Given the description of an element on the screen output the (x, y) to click on. 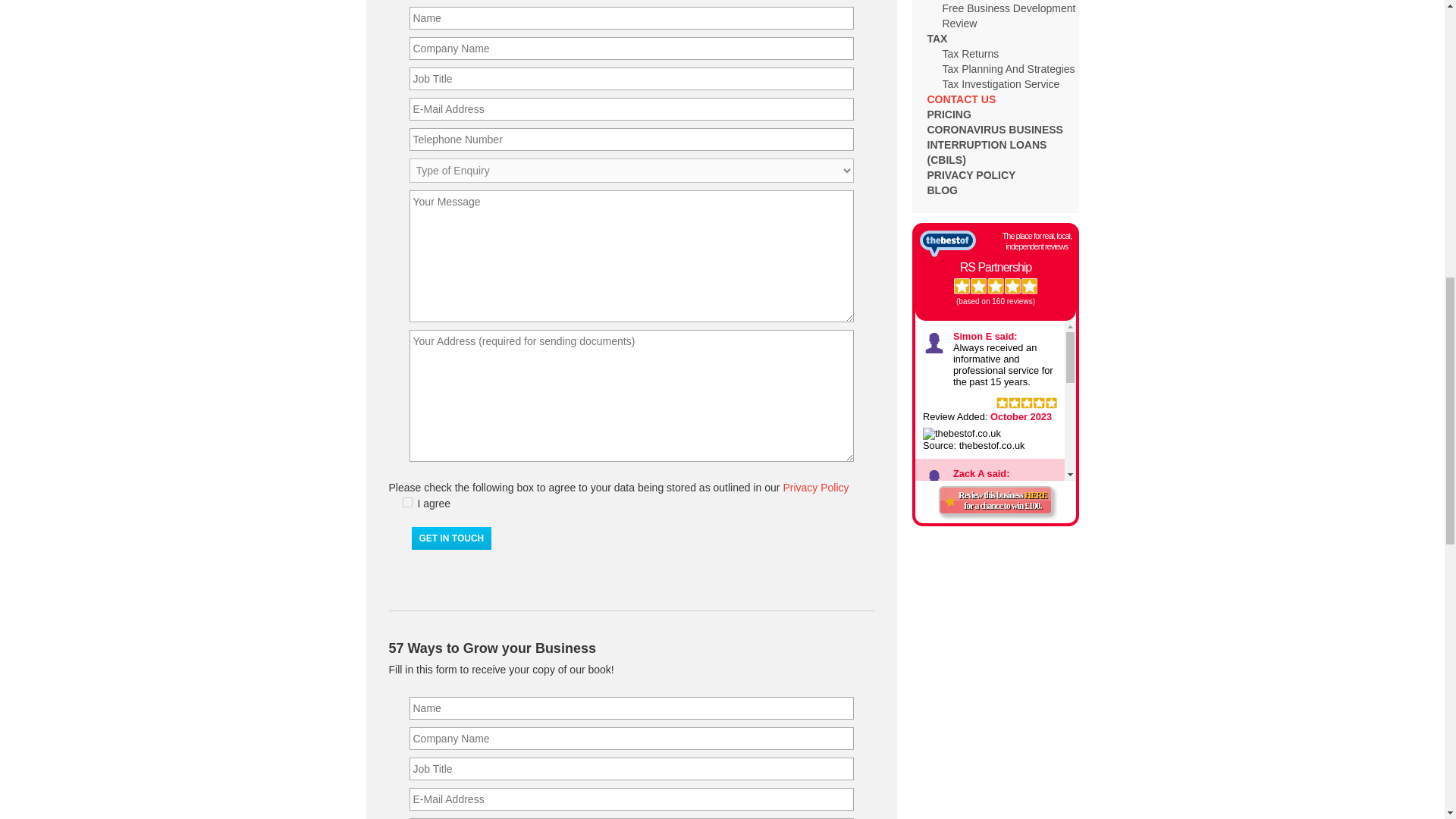
I agree (406, 501)
Get in Touch (451, 538)
Privacy Policy (815, 487)
Get in Touch (451, 538)
